Given the description of an element on the screen output the (x, y) to click on. 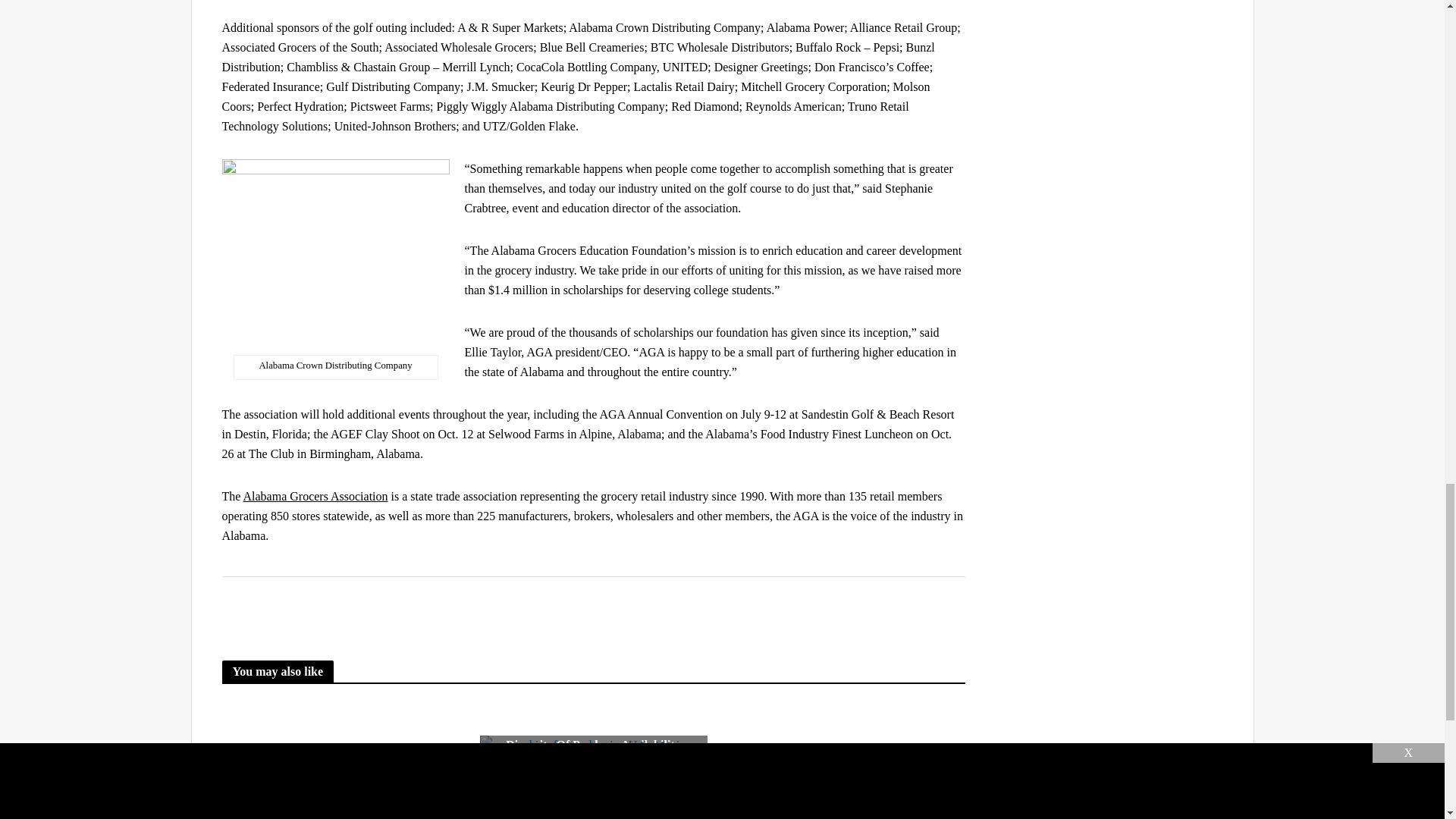
Mapping Out The Meat Consumer Journey (334, 754)
Super G Mart Serves As Meeting Ground For Different Cultures (849, 754)
